Given the description of an element on the screen output the (x, y) to click on. 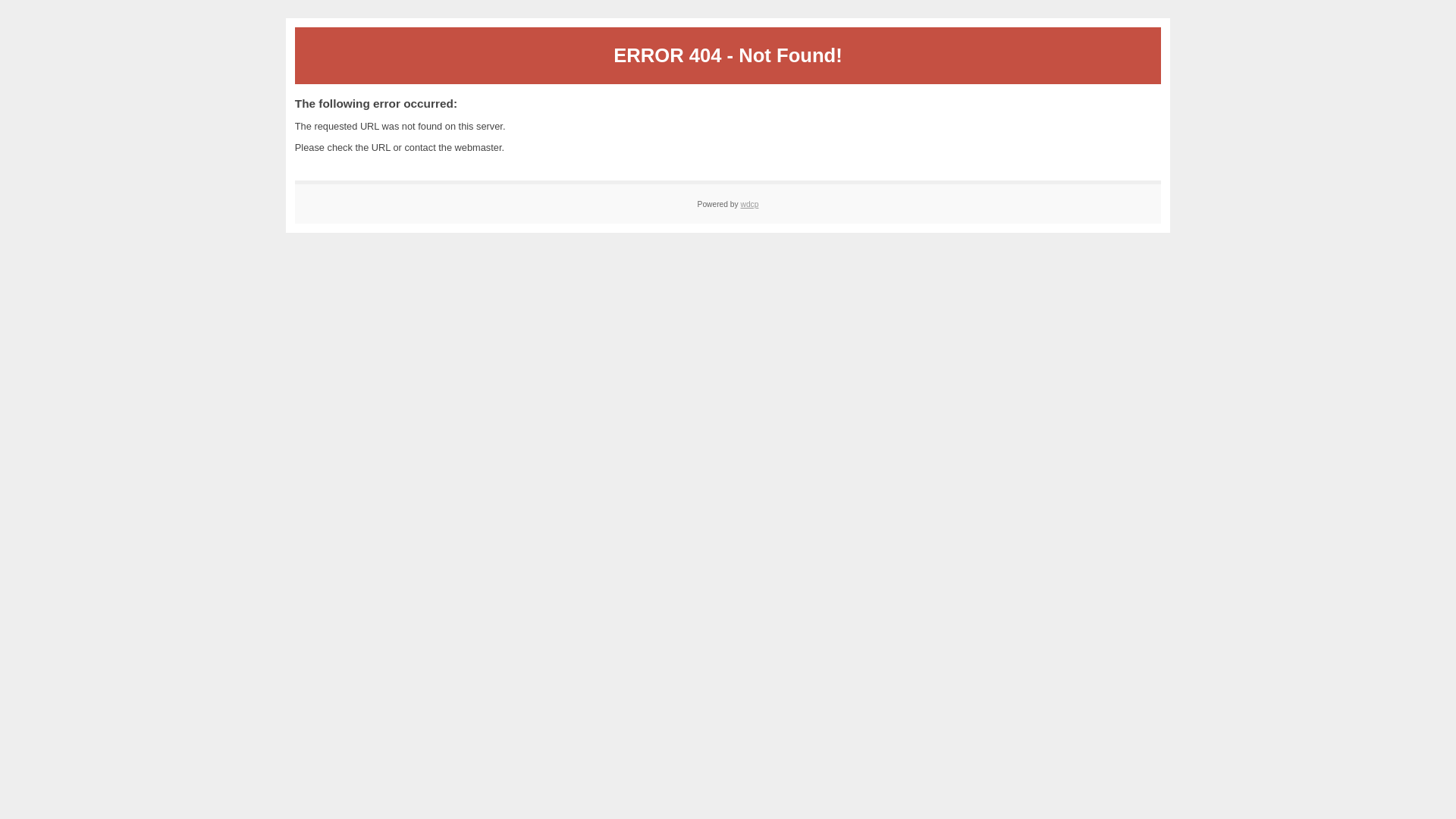
wdcp Element type: text (749, 204)
